Given the description of an element on the screen output the (x, y) to click on. 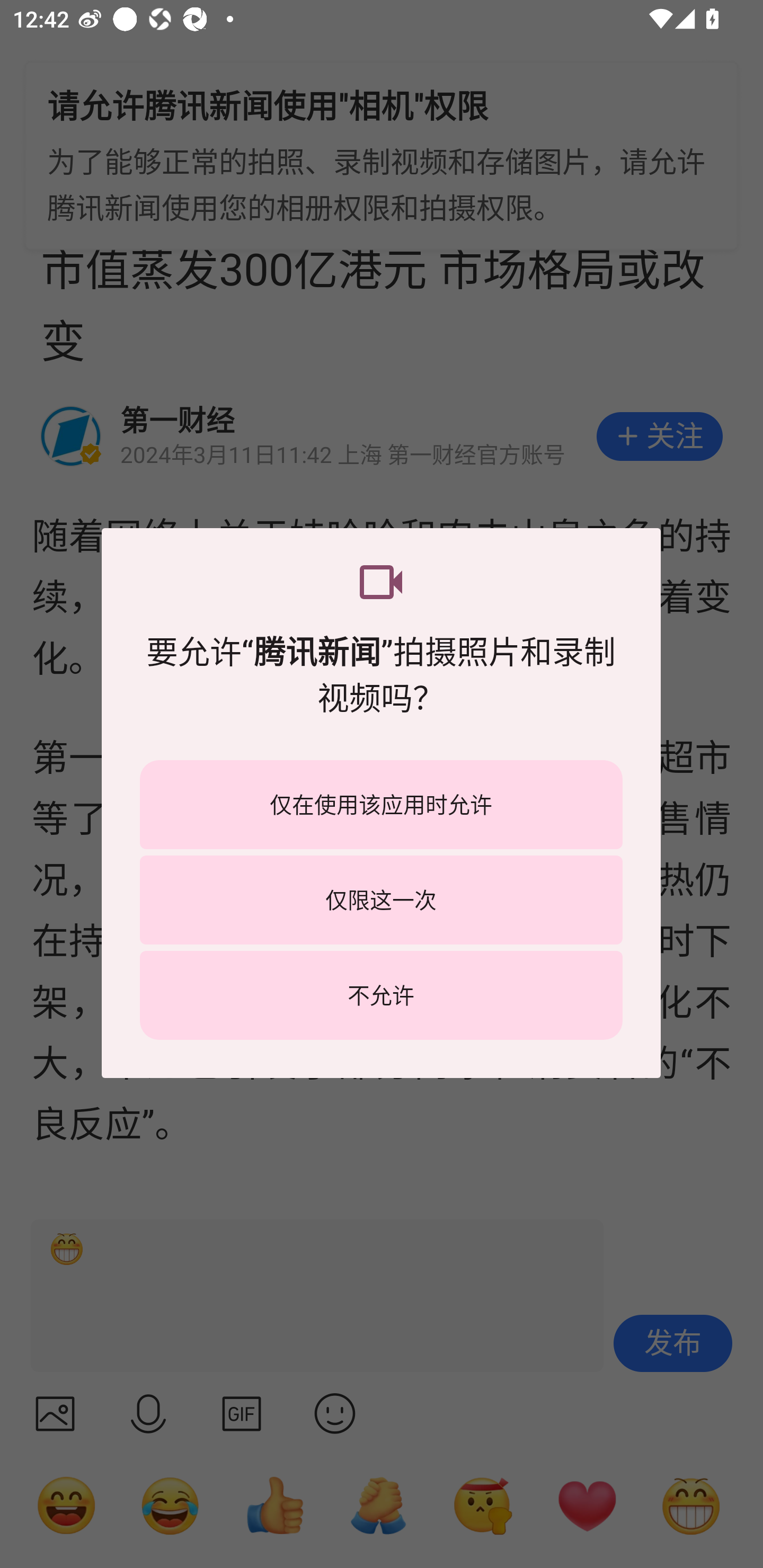
仅在使用该应用时允许 (380, 804)
仅限这一次 (380, 899)
不允许 (380, 994)
